Given the description of an element on the screen output the (x, y) to click on. 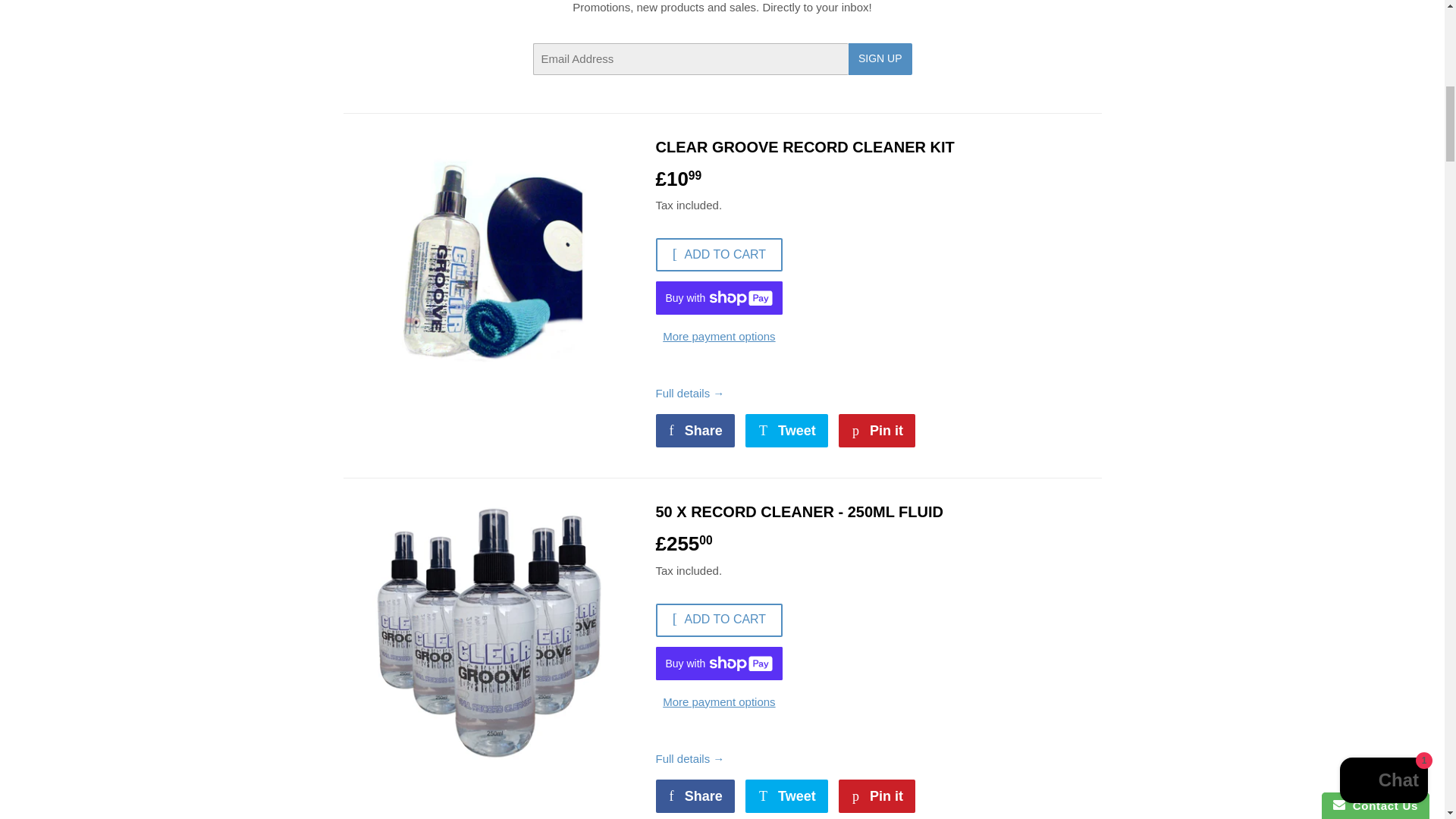
Share on Facebook (694, 430)
Pin on Pinterest (876, 430)
Pin on Pinterest (876, 796)
Share on Facebook (694, 796)
Tweet on Twitter (786, 430)
Tweet on Twitter (786, 796)
